Given the description of an element on the screen output the (x, y) to click on. 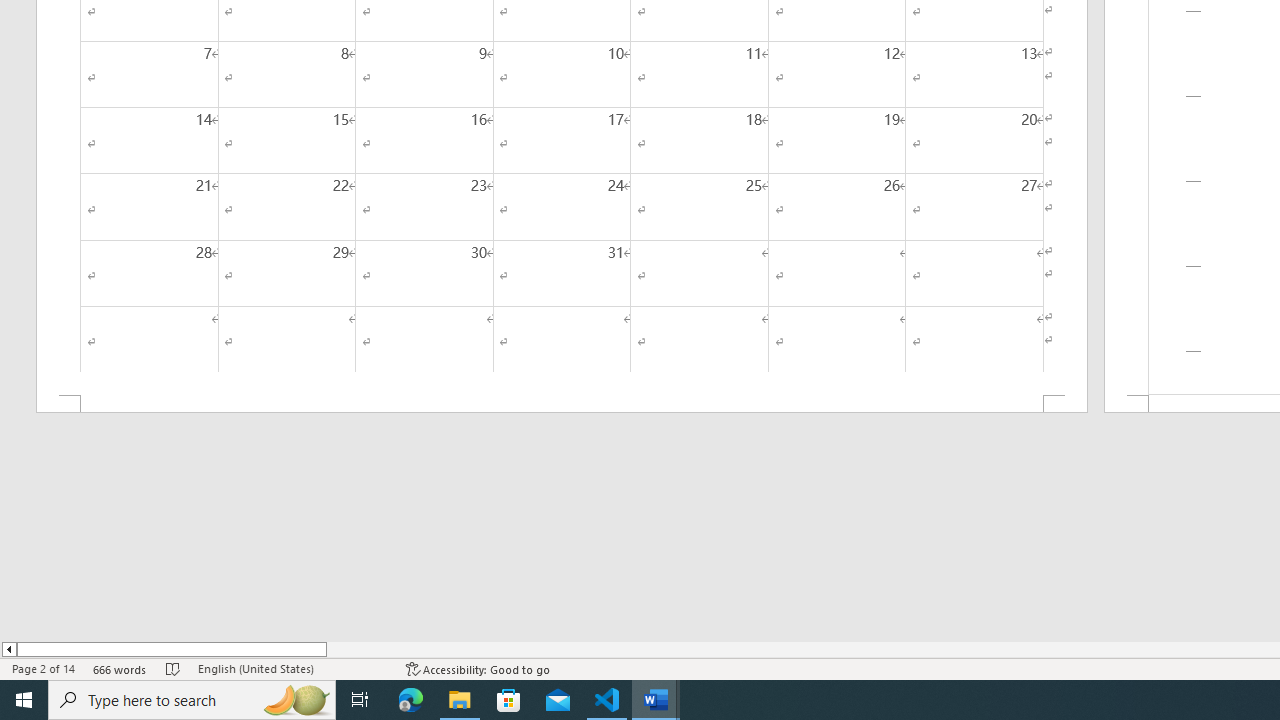
Column left (8, 649)
Language English (United States) (292, 668)
Word Count 666 words (119, 668)
Spelling and Grammar Check No Errors (173, 668)
Footer -Section 1- (561, 404)
Accessibility Checker Accessibility: Good to go (478, 668)
Page Number Page 2 of 14 (43, 668)
